Given the description of an element on the screen output the (x, y) to click on. 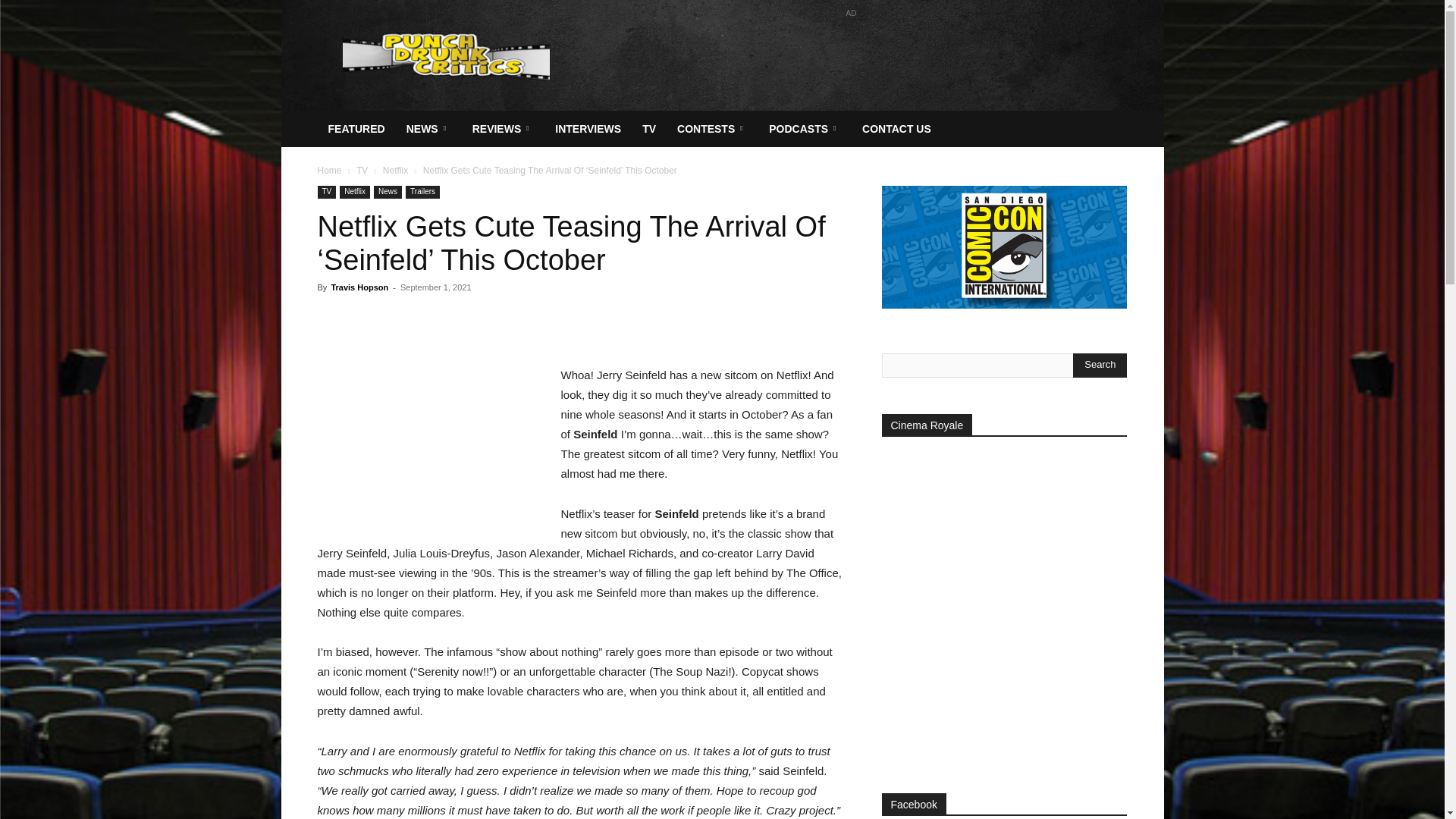
Search (1099, 364)
FEATURED (355, 128)
NEWS (428, 128)
View all posts in Netflix (394, 170)
View all posts in TV (362, 170)
REVIEWS (502, 128)
